Given the description of an element on the screen output the (x, y) to click on. 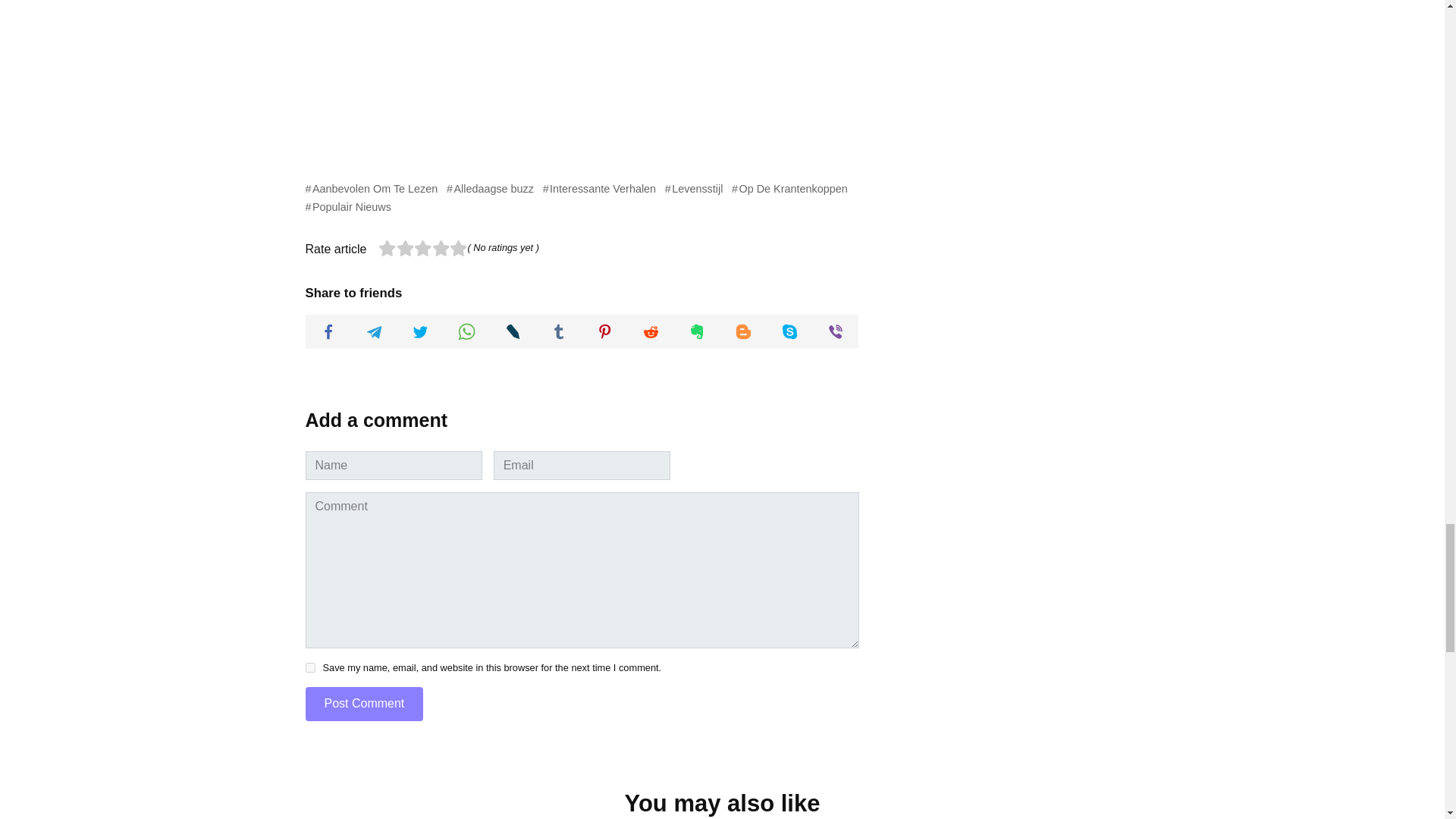
Levensstijl (694, 188)
Interessante Verhalen (599, 188)
Populair Nieuws (347, 206)
Post Comment (363, 704)
Aanbevolen Om Te Lezen (371, 188)
Alledaagse buzz (490, 188)
Op De Krantenkoppen (789, 188)
yes (309, 667)
Post Comment (363, 704)
